Given the description of an element on the screen output the (x, y) to click on. 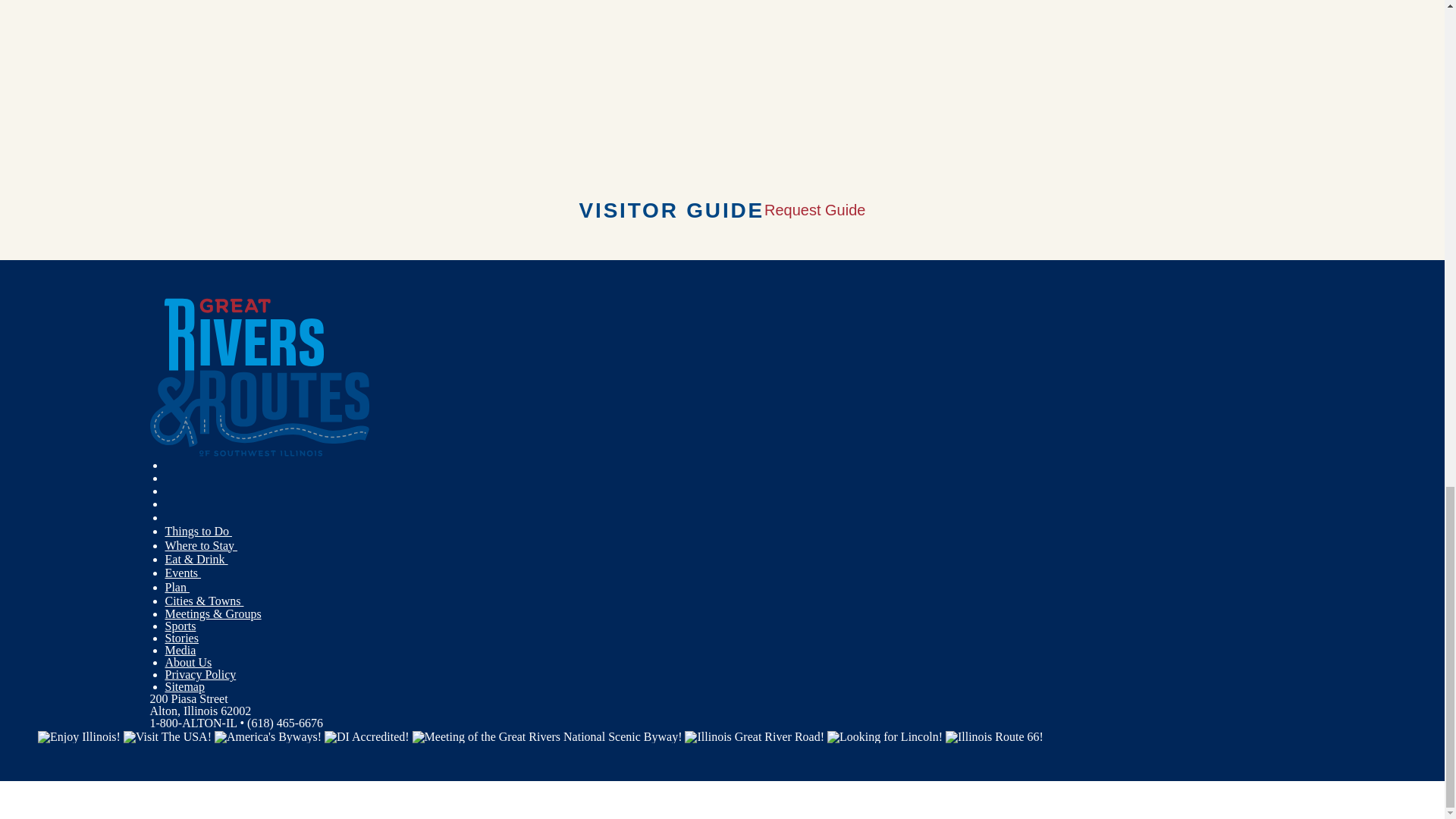
Request Guide (814, 209)
Illinois Great River Road! (754, 735)
Looking for Lincoln! (884, 735)
Meeting of the Great Rivers National Scenic Byway! (547, 735)
Illinois Route 66! (993, 735)
America's Byways! (267, 735)
Things to Do (198, 530)
Enjoy Illinois! (78, 735)
Visit The USA! (167, 735)
DI Accredited! (366, 735)
